Given the description of an element on the screen output the (x, y) to click on. 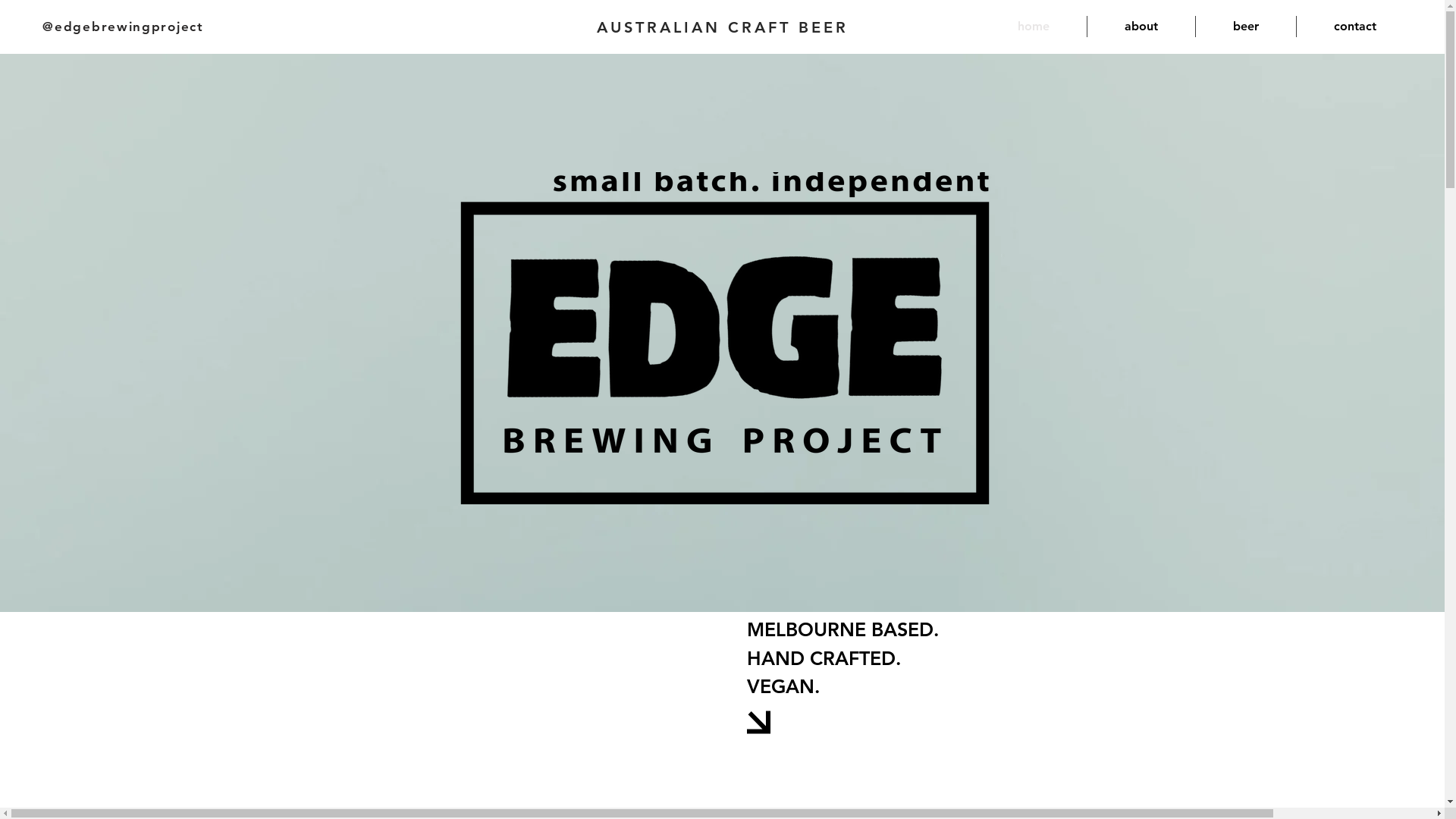
beer Element type: text (1245, 26)
@edgebrewingproject Element type: text (123, 25)
home Element type: text (1033, 26)
about Element type: text (1141, 26)
contact Element type: text (1354, 26)
